Given the description of an element on the screen output the (x, y) to click on. 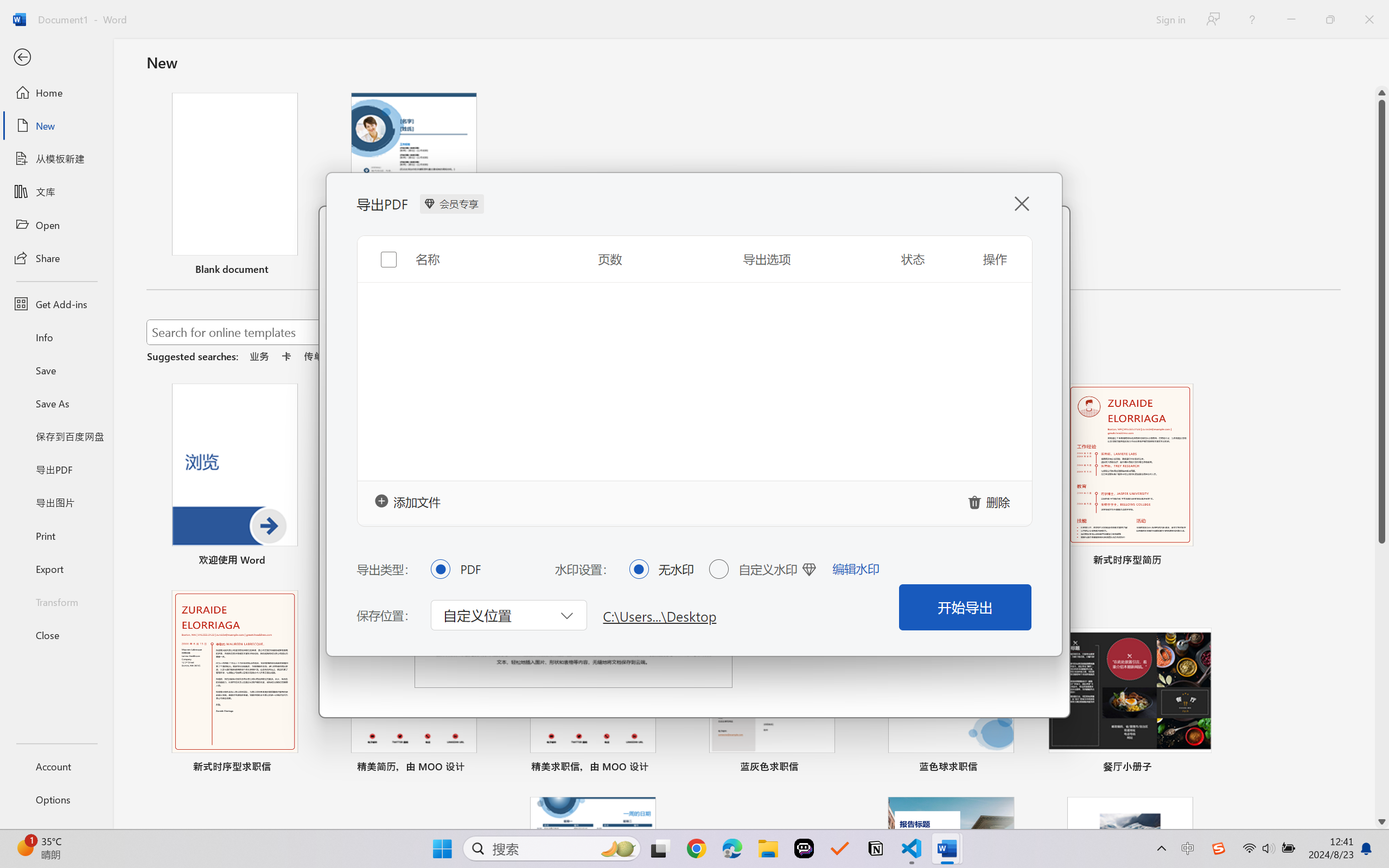
Print (56, 535)
Get Add-ins (56, 303)
C:\Users...\Desktop (659, 615)
Blank document (234, 185)
New (56, 125)
